Given the description of an element on the screen output the (x, y) to click on. 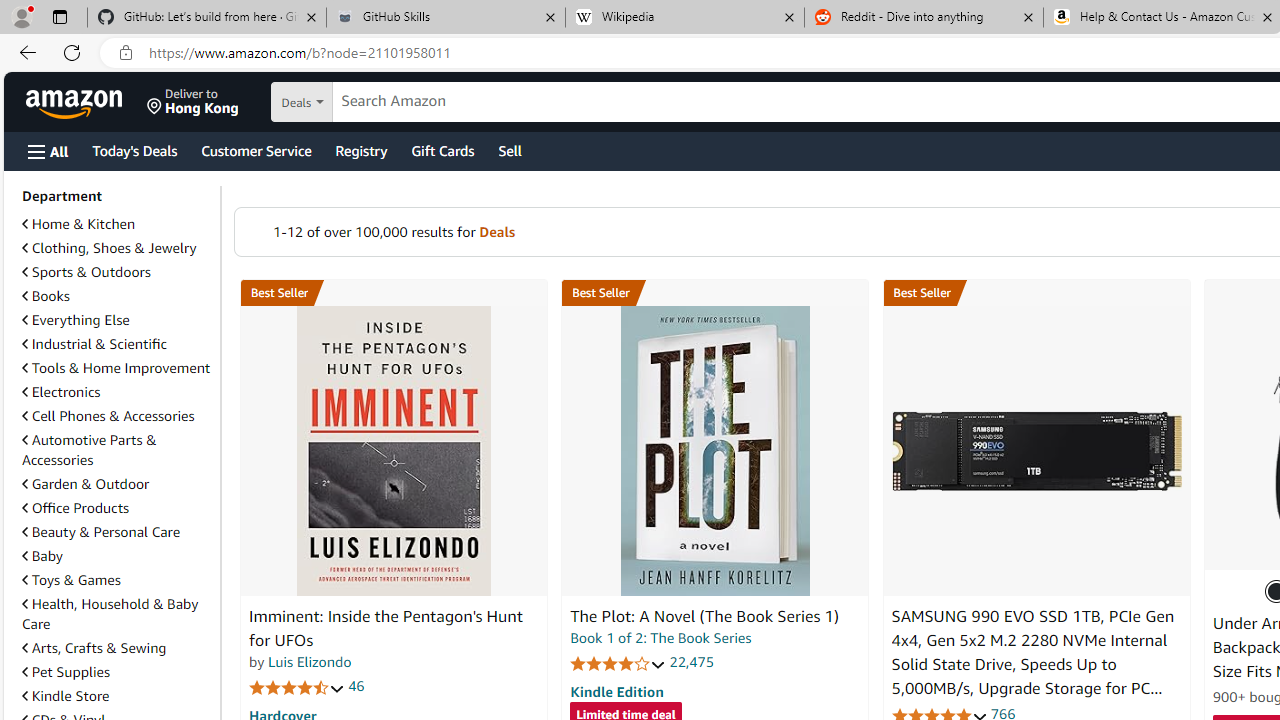
Imminent: Inside the Pentagon's Hunt for UFOs (393, 451)
Industrial & Scientific (117, 344)
Skip to main content (86, 100)
Customer Service (256, 150)
Health, Household & Baby Care (109, 613)
Book 1 of 2: The Book Series (660, 638)
Sports & Outdoors (86, 271)
Tools & Home Improvement (117, 367)
4.7 out of 5 stars (297, 686)
Automotive Parts & Accessories (117, 449)
46 (356, 686)
Luis Elizondo (309, 662)
Home & Kitchen (78, 224)
